Given the description of an element on the screen output the (x, y) to click on. 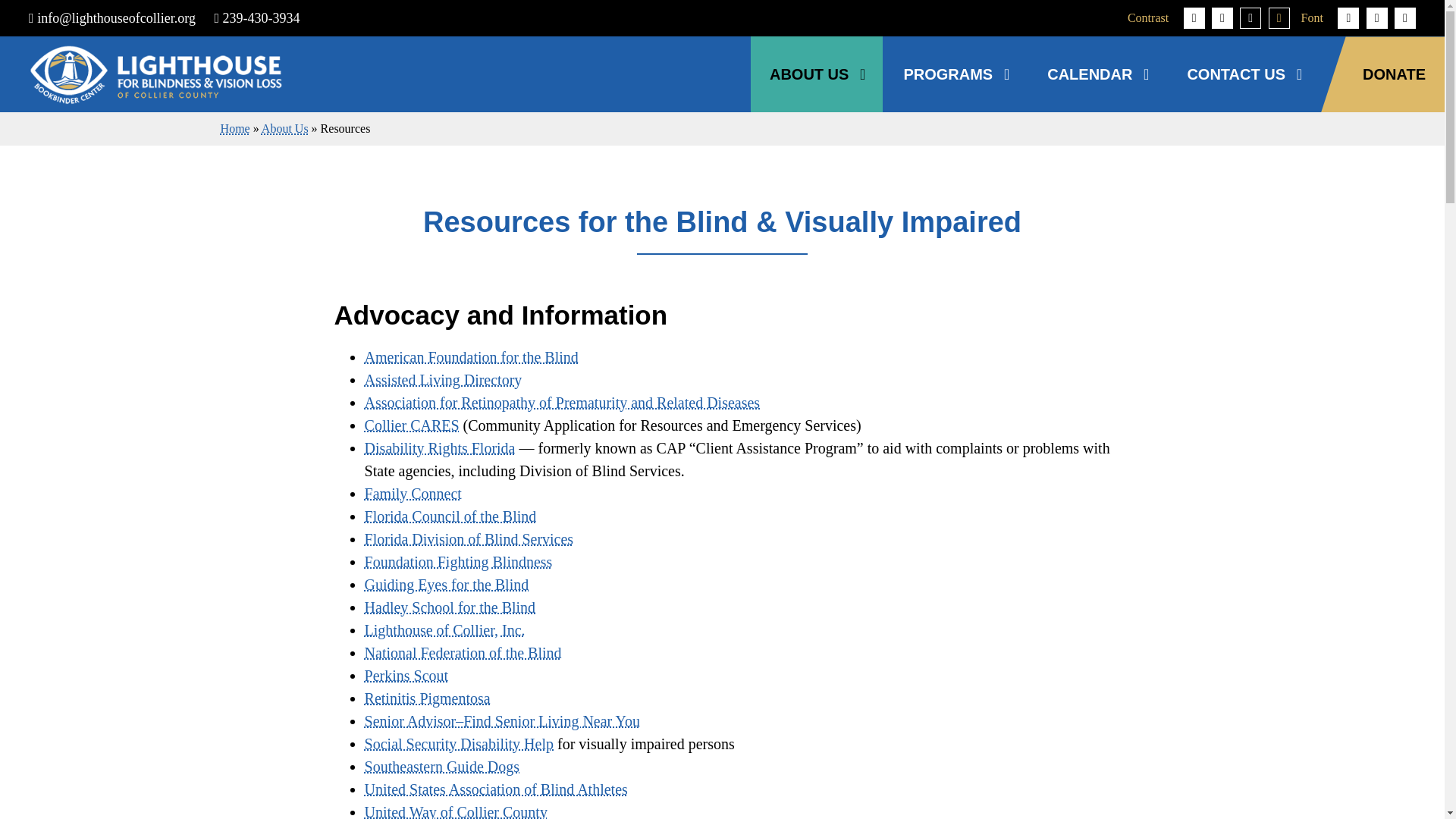
Decrease Font Size (1348, 17)
Opens in a new window (450, 606)
Opens in a new window (440, 447)
Opens in a new window (459, 561)
Opens in a new window (471, 356)
Opens in a new window (463, 652)
Opens in a new window (445, 629)
Increase Font Size (1404, 17)
Opens in a new window (451, 515)
Opens in a new window (447, 584)
Set black and yellow contrast mode (1279, 17)
Set black and white contrast mode (1250, 17)
239-430-3934 (256, 17)
Opens in a new window (413, 493)
Set default contrast mode (1194, 17)
